Given the description of an element on the screen output the (x, y) to click on. 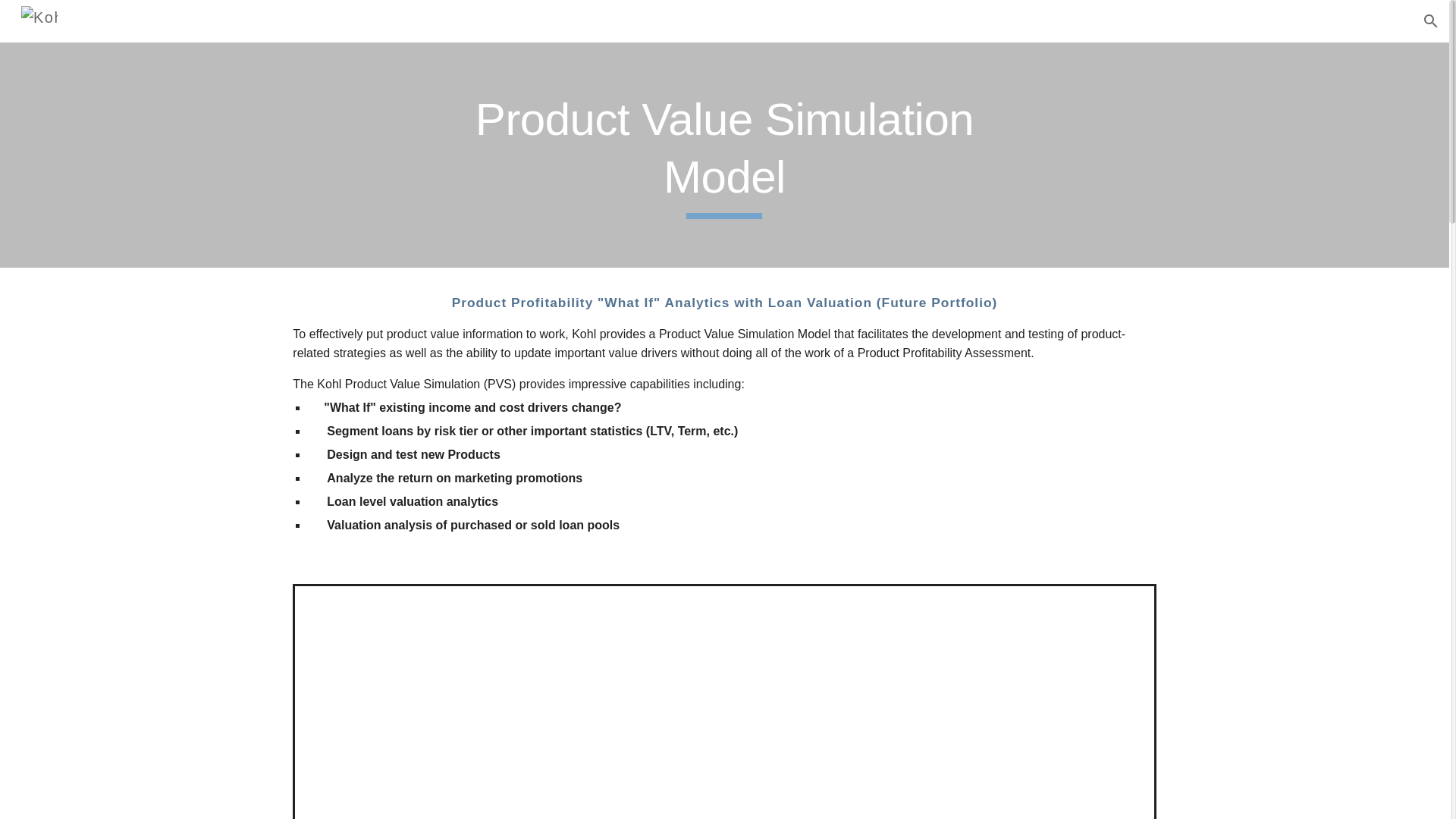
Kohl Analytics Group (36, 21)
HubSpot Video (724, 740)
